Given the description of an element on the screen output the (x, y) to click on. 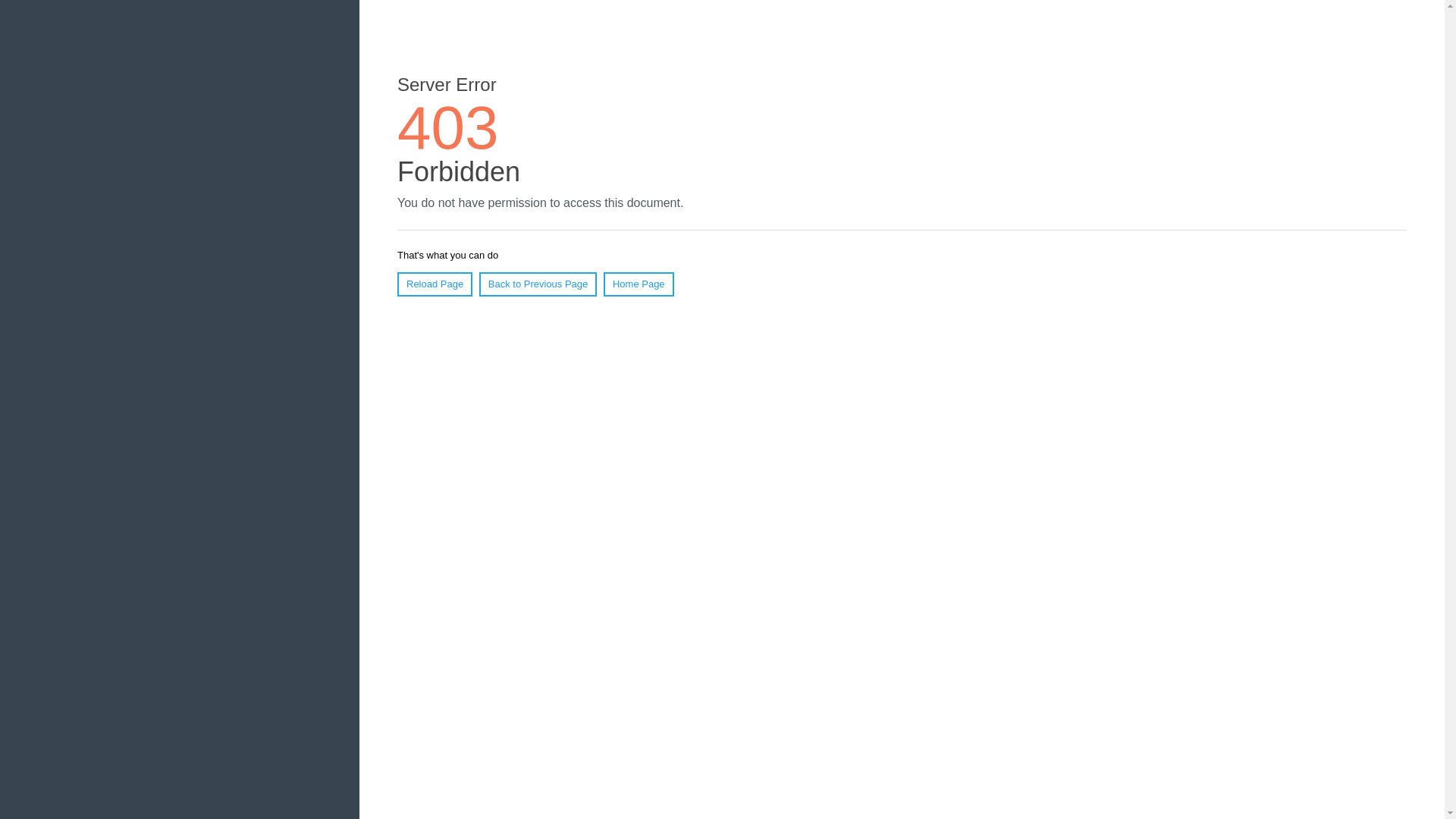
Back to Previous Page (537, 283)
Home Page (639, 283)
Reload Page (434, 283)
